Given the description of an element on the screen output the (x, y) to click on. 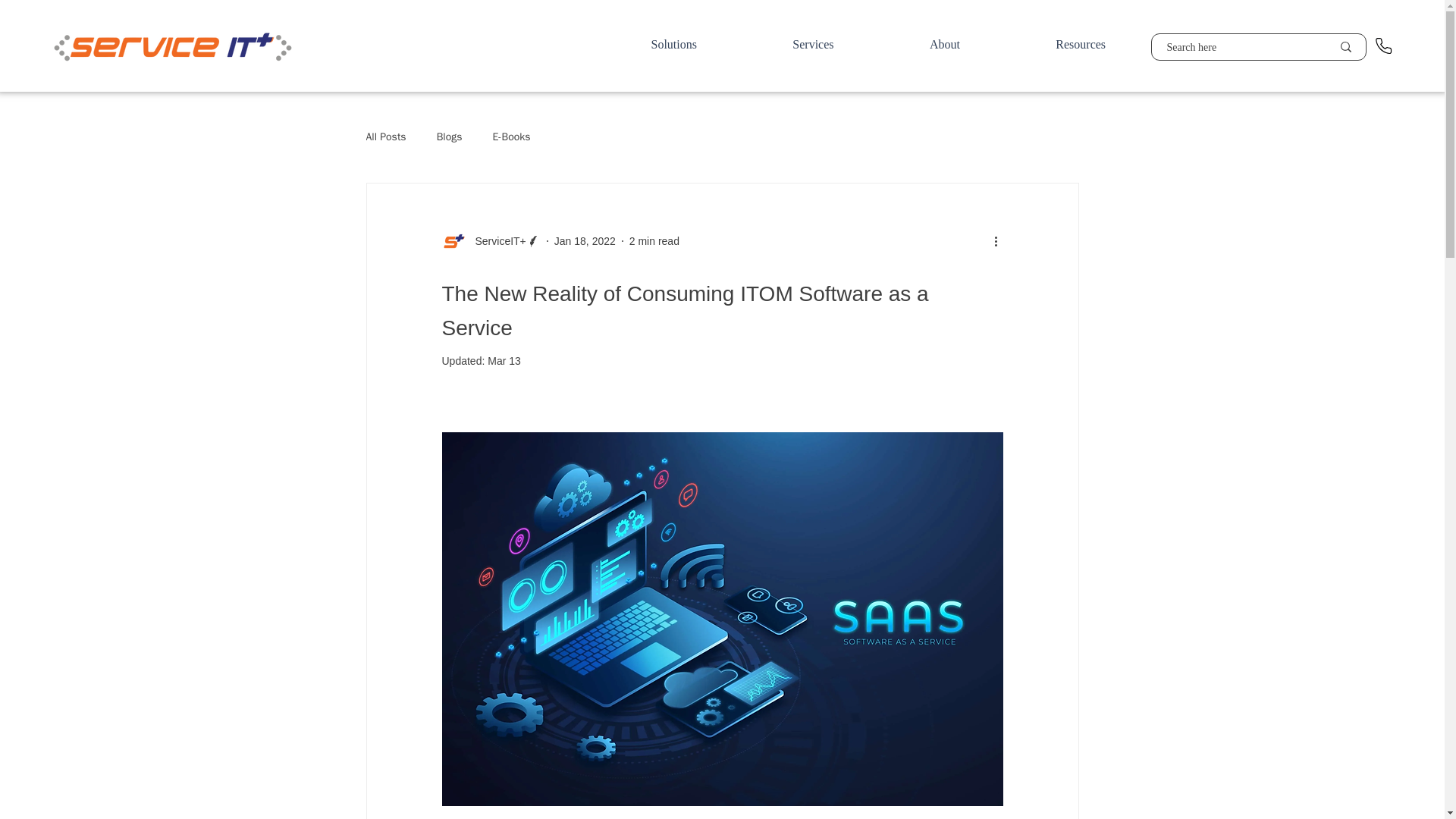
Jan 18, 2022 (584, 241)
Resources (1080, 44)
2 min read (653, 241)
E-Books (510, 137)
About (944, 44)
Mar 13 (504, 360)
Blogs (449, 137)
All Posts (385, 137)
